Given the description of an element on the screen output the (x, y) to click on. 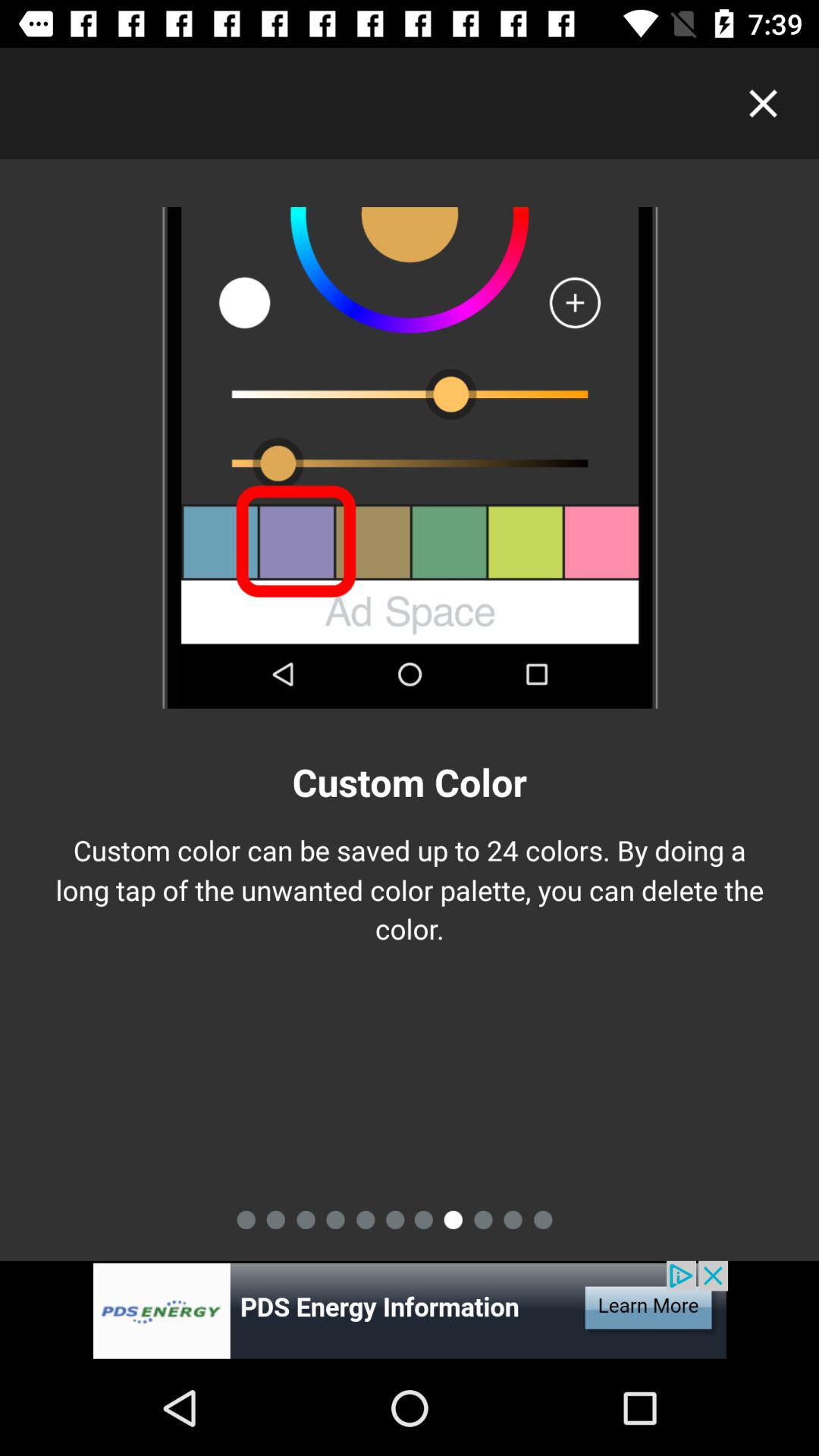
close (763, 103)
